Given the description of an element on the screen output the (x, y) to click on. 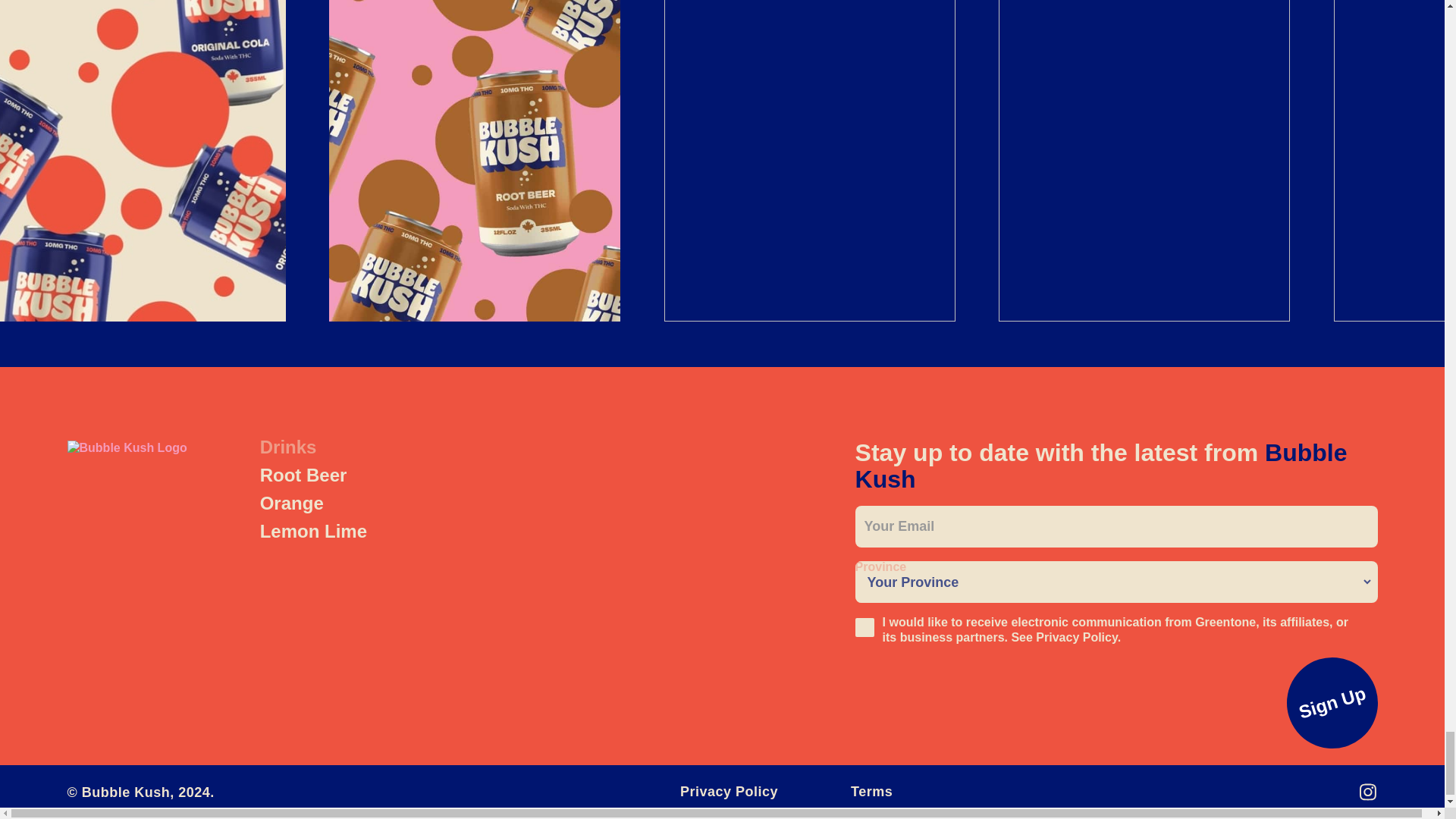
Privacy Policy (728, 791)
Root Beer (303, 475)
Orange (291, 503)
Terms (871, 791)
Lemon Lime (313, 531)
Sign Up (1321, 692)
Privacy Policy (1075, 636)
Sign Up (1321, 692)
